Given the description of an element on the screen output the (x, y) to click on. 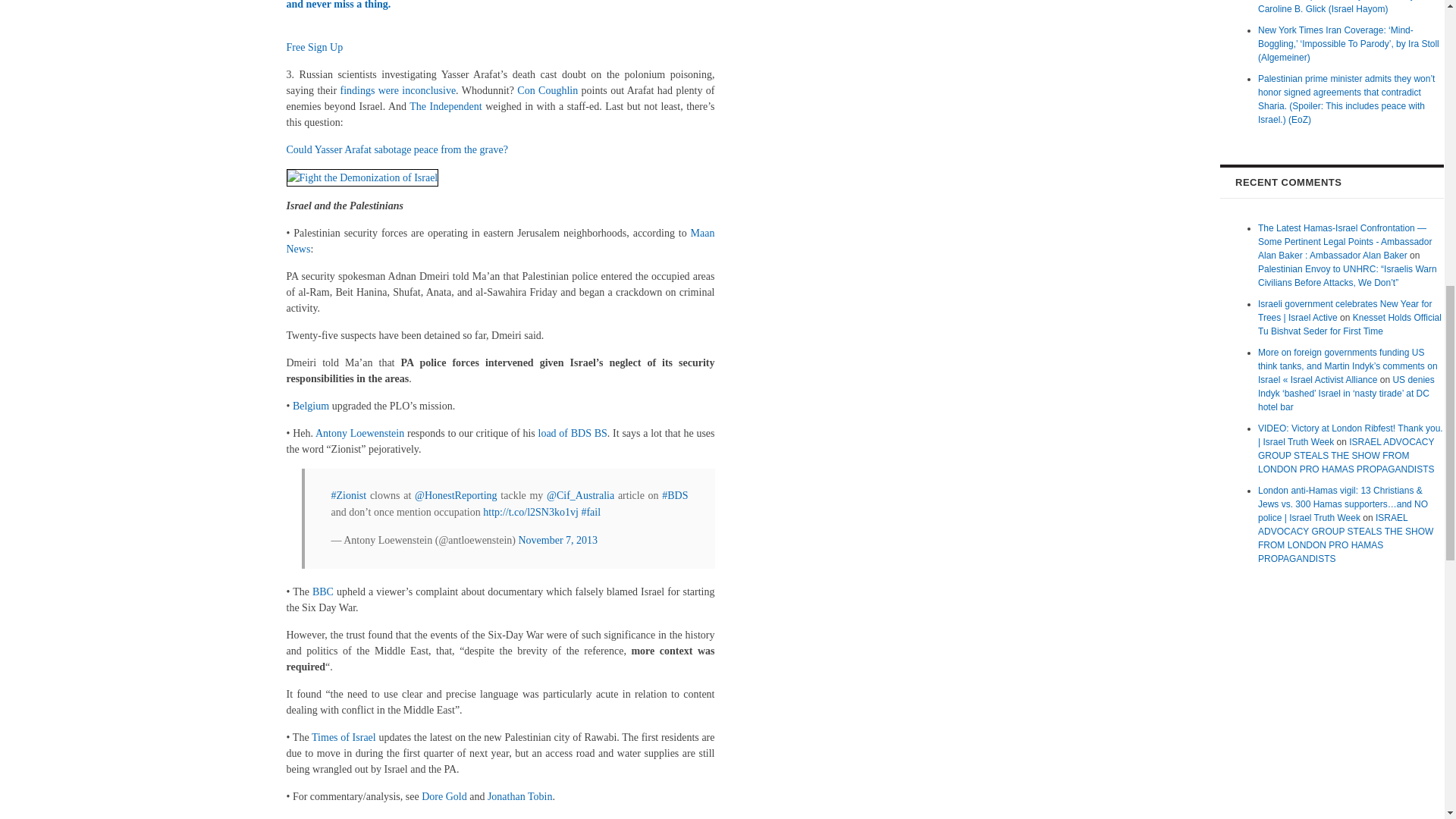
The Independent (445, 105)
Antony Loewenstein (359, 432)
load of BDS BS (572, 432)
Belgium (310, 405)
Free Sign Up (314, 46)
Fight the Demonization of Israel (362, 176)
Con Coughlin (547, 90)
November 7, 2013 (557, 540)
findings were inconclusive (397, 90)
Maan News (500, 240)
Could Yasser Arafat sabotage peace from the grave? (397, 149)
